Given the description of an element on the screen output the (x, y) to click on. 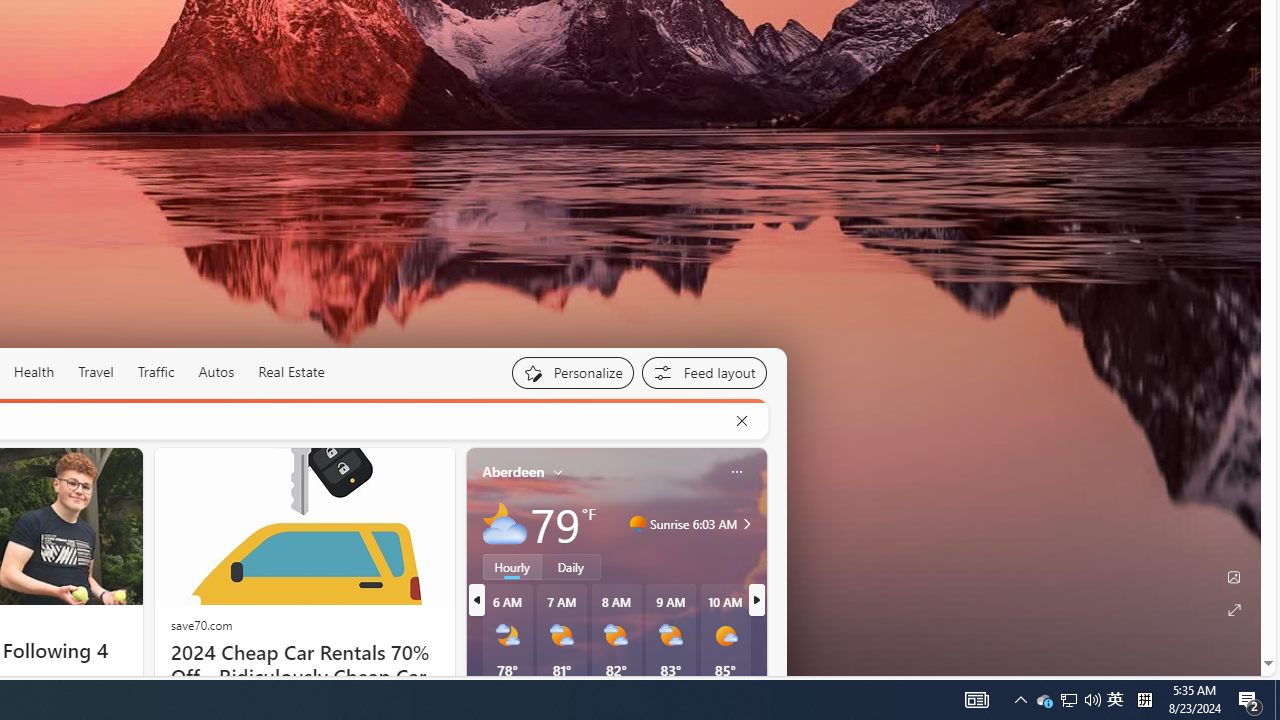
Class: weather-arrow-glyph (746, 523)
Aberdeen (513, 471)
Autos (215, 371)
save70.com (201, 624)
Sunrise 6:03 AM (744, 523)
